Given the description of an element on the screen output the (x, y) to click on. 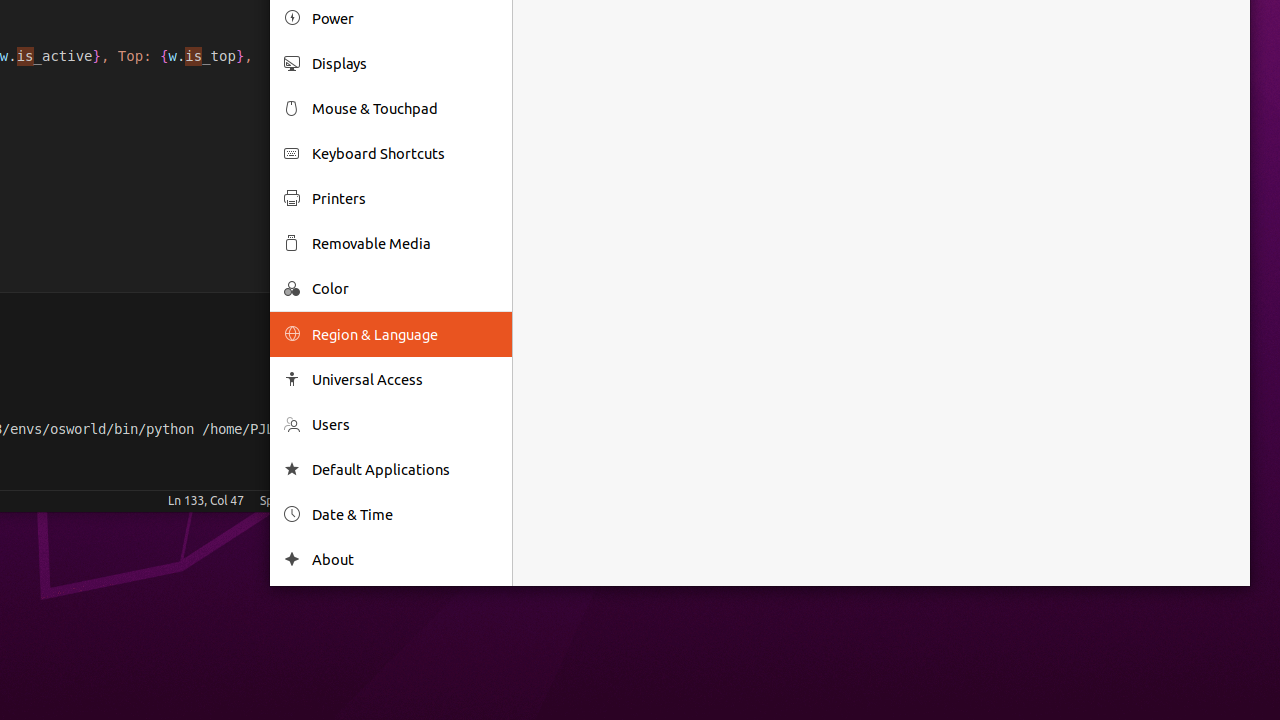
Printers Element type: label (405, 198)
Removable Media Element type: label (405, 243)
Default Applications Element type: label (405, 469)
